Given the description of an element on the screen output the (x, y) to click on. 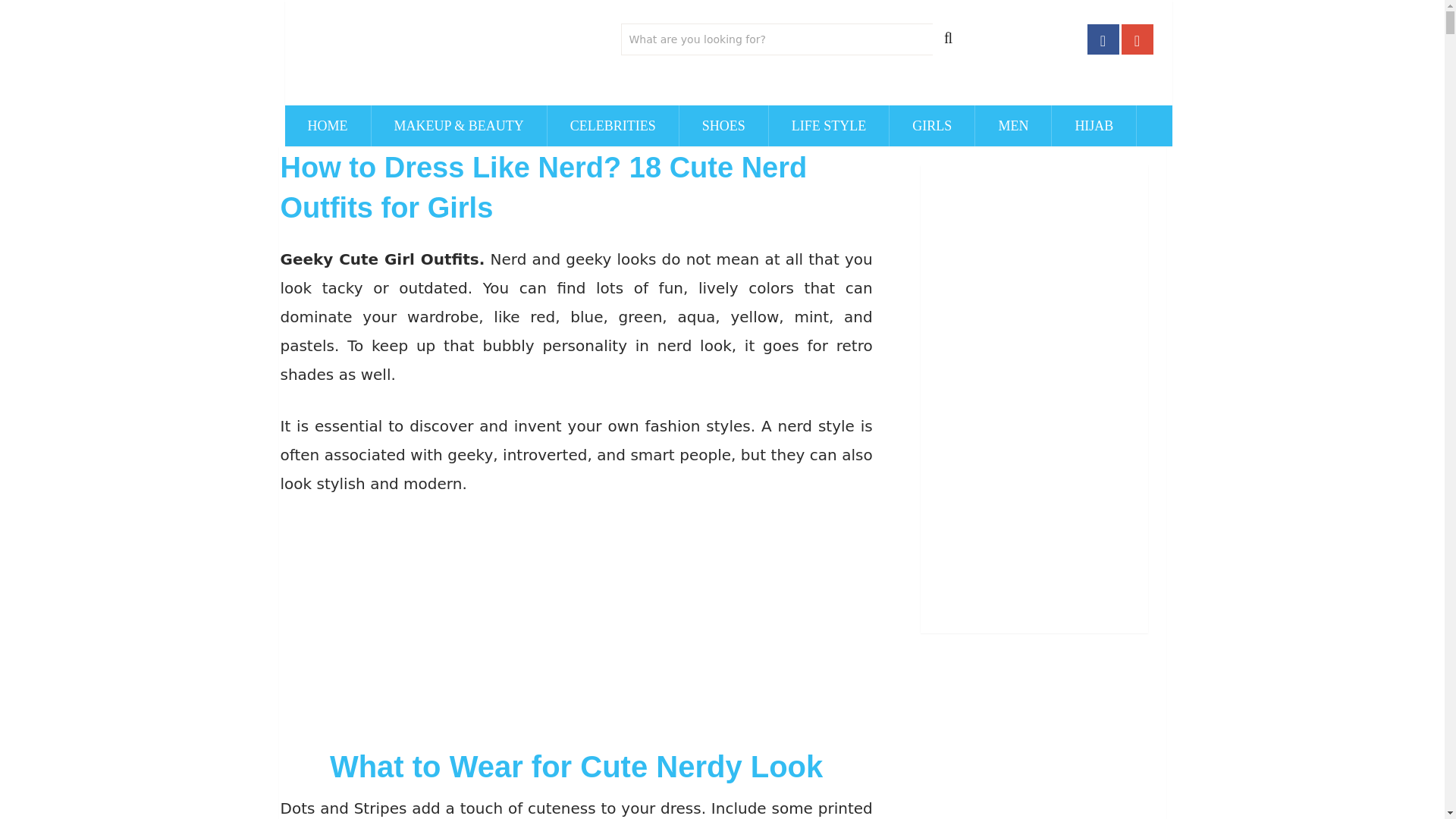
LIFE STYLE (828, 125)
GIRLS (931, 125)
SHOES (723, 125)
HIJAB (1093, 125)
MEN (1013, 125)
CELEBRITIES (612, 125)
Advertisement (576, 626)
HOME (328, 125)
